Given the description of an element on the screen output the (x, y) to click on. 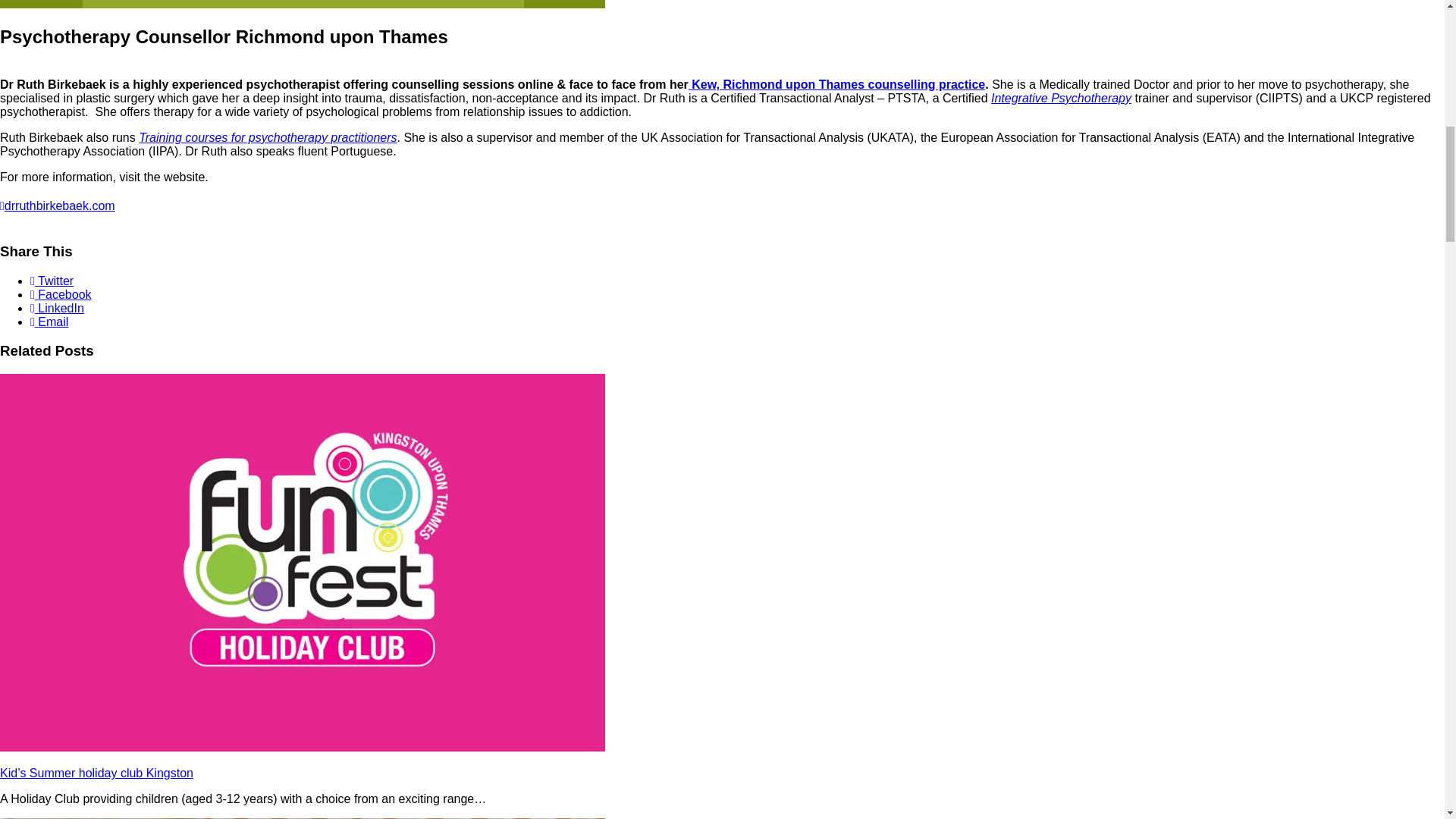
Twitter (52, 280)
drruthbirkebaek.com (57, 205)
Integrative Psychotherapy (1061, 97)
LinkedIn (57, 308)
Email (49, 321)
Training courses for psychotherapy practitioners (267, 137)
Kew, Richmond upon Thames counselling practice (836, 83)
Facebook (60, 294)
